Given the description of an element on the screen output the (x, y) to click on. 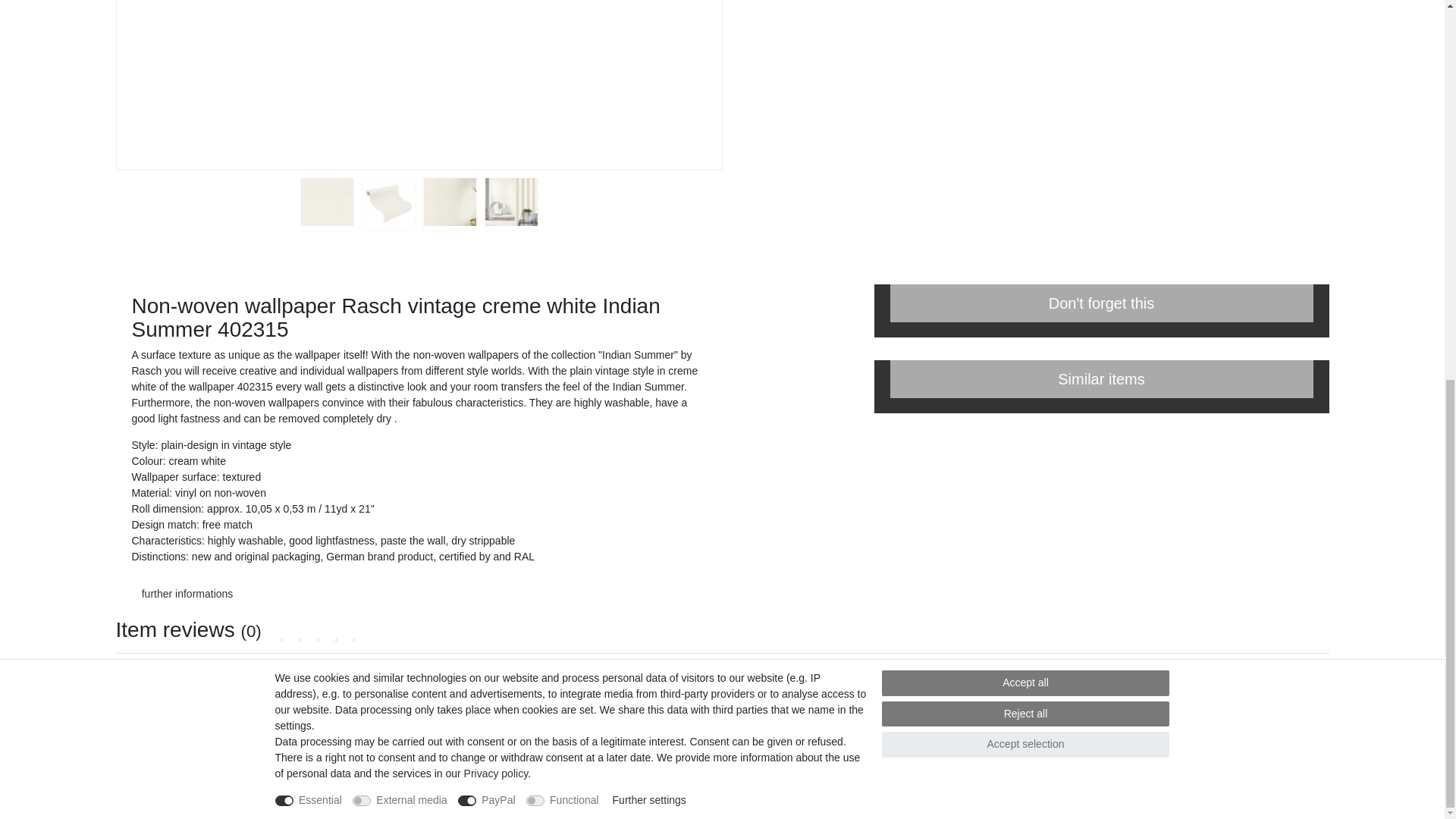
 2 (388, 208)
 1 (325, 208)
 3 (449, 208)
 4 (510, 208)
